Given the description of an element on the screen output the (x, y) to click on. 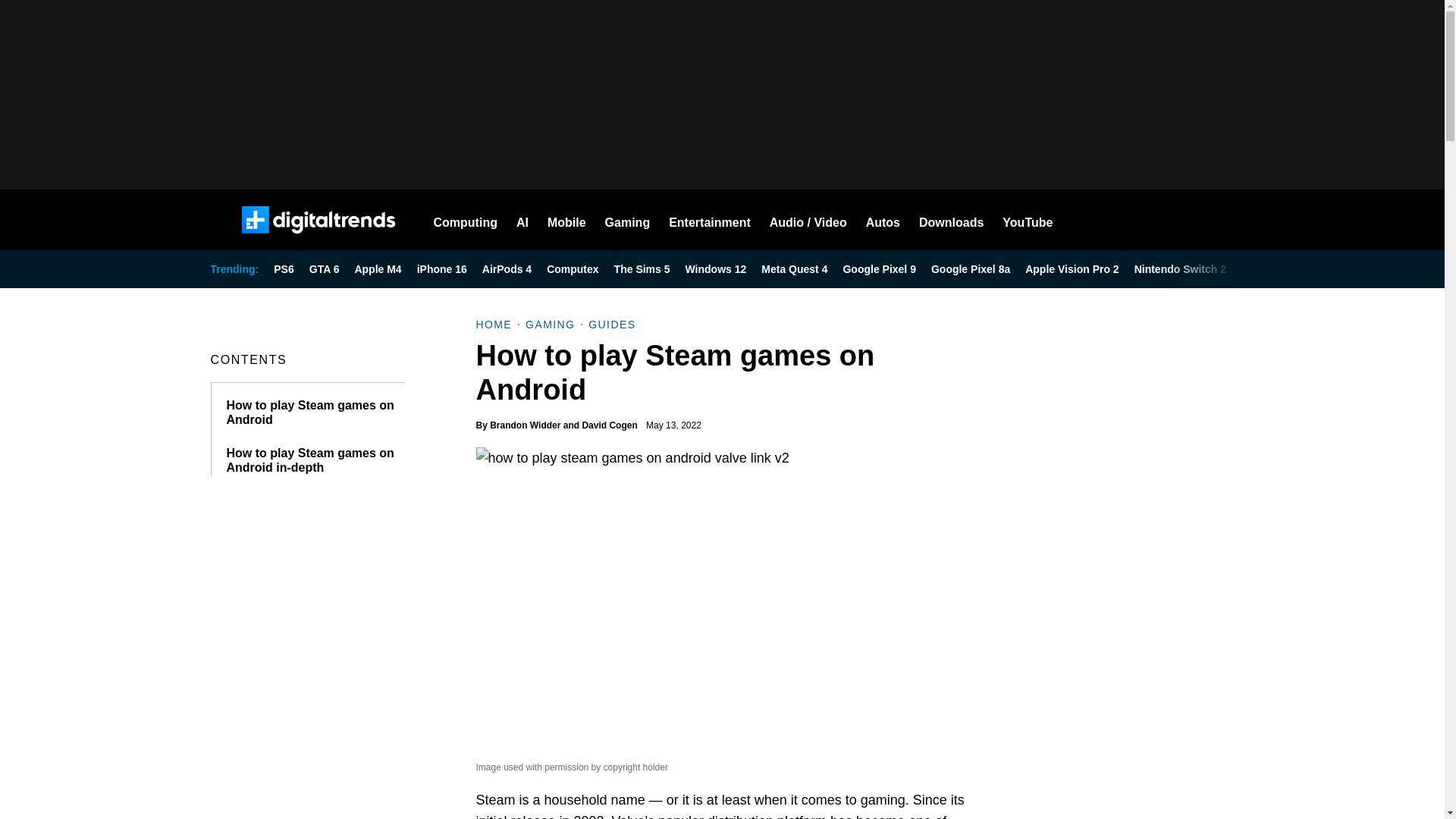
Downloads (951, 219)
Computing (465, 219)
Entertainment (709, 219)
